Given the description of an element on the screen output the (x, y) to click on. 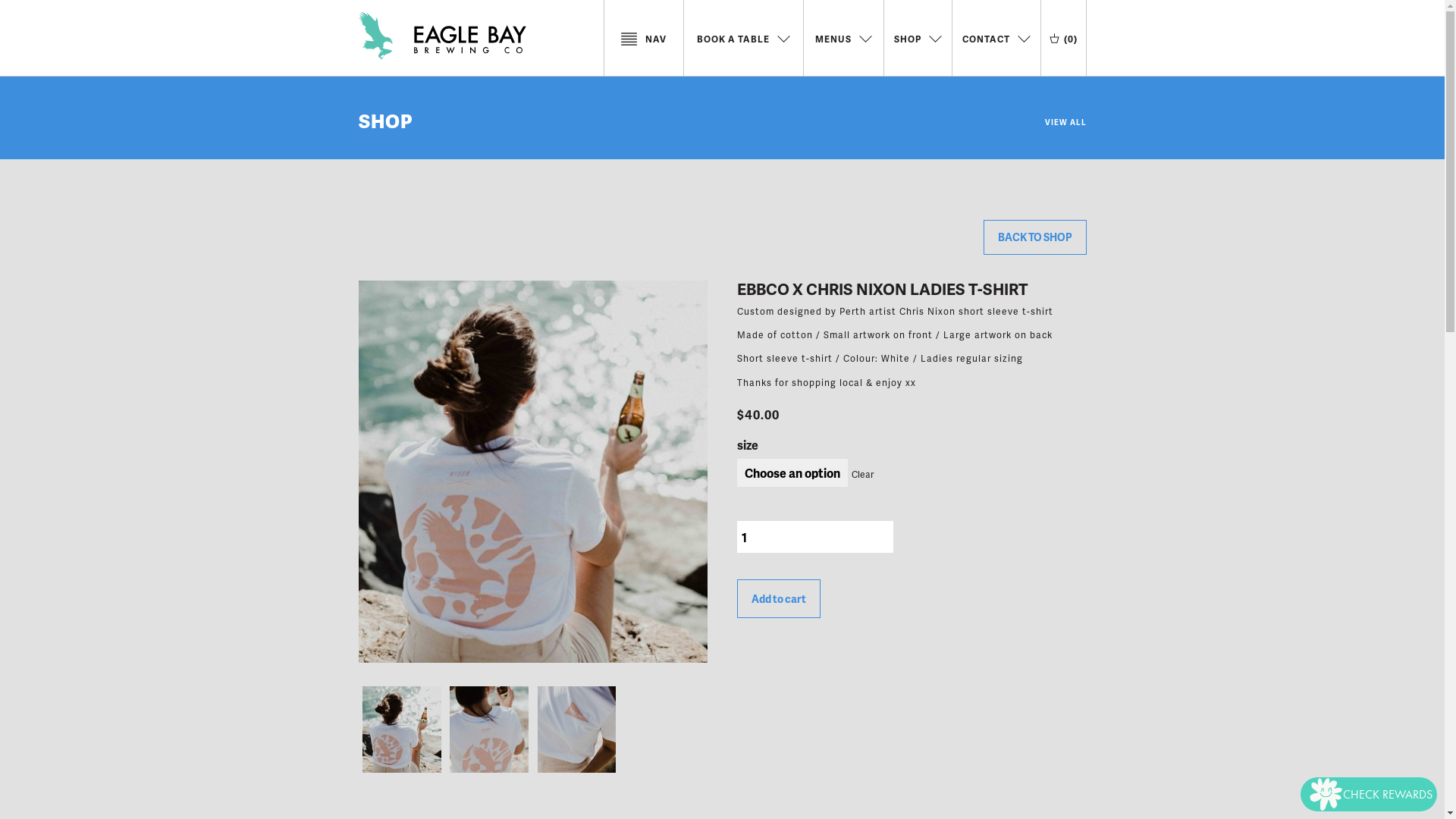
Clear Element type: text (860, 473)
Add to cart Element type: text (778, 598)
SHOP Element type: text (384, 120)
EBB Ladies (13 of 54) Element type: hover (489, 728)
Eagle Bay LADIES T-SHIRT (1 of 1) Element type: hover (532, 471)
VIEW ALL Element type: text (1065, 116)
MENUS Element type: text (842, 38)
NAV Element type: text (642, 38)
BOOK A TABLE Element type: text (742, 38)
CONTACT Element type: text (995, 38)
Eagle Bay LADIES T-SHIRT (1 of 1) Element type: hover (401, 728)
SHOP Element type: text (917, 38)
  (0) Element type: text (1063, 38)
BACK TO SHOP Element type: text (1033, 236)
EBB Ladies (5 of 54) Element type: hover (576, 728)
